Given the description of an element on the screen output the (x, y) to click on. 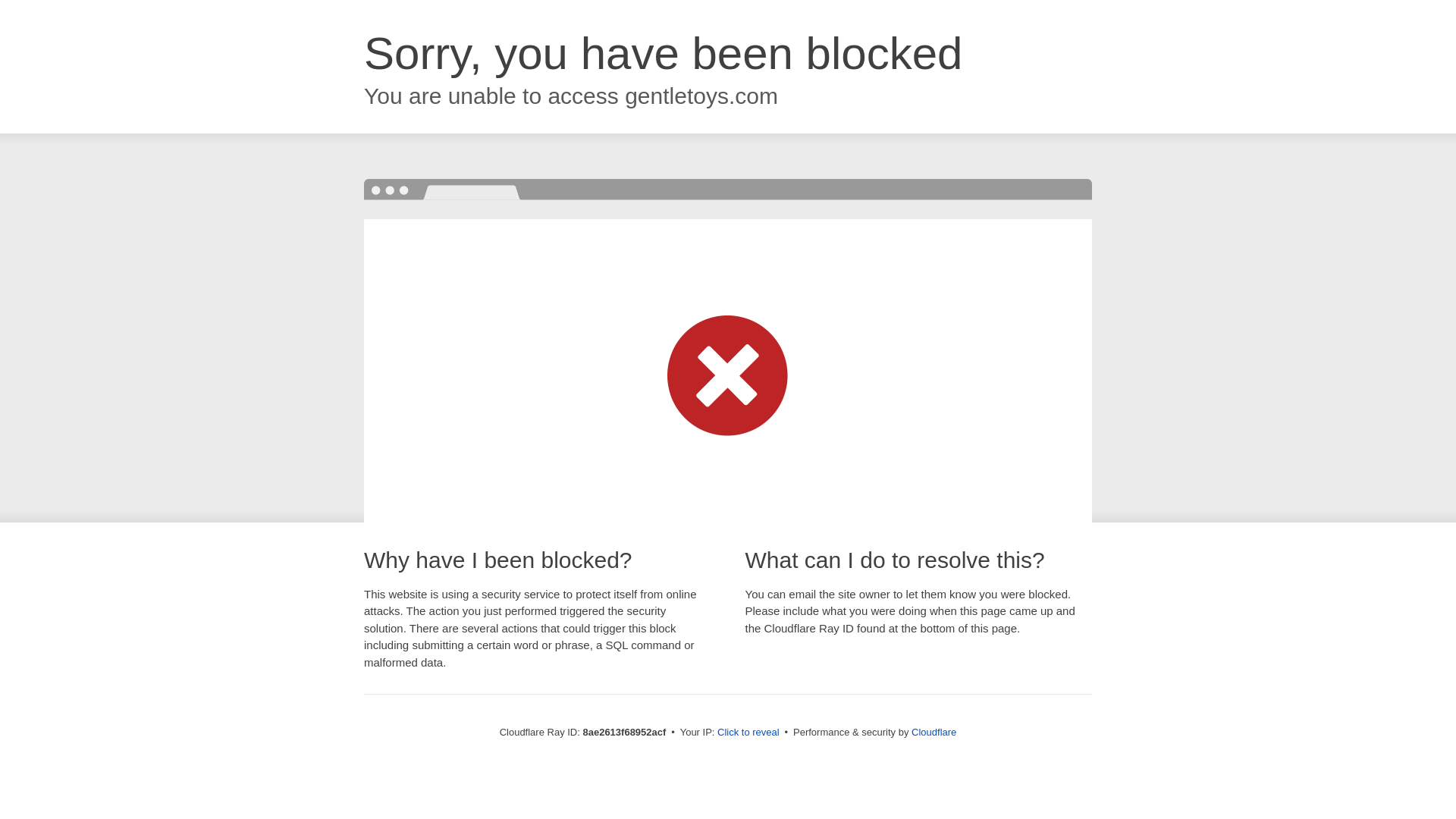
Click to reveal (747, 732)
Cloudflare (933, 731)
